Given the description of an element on the screen output the (x, y) to click on. 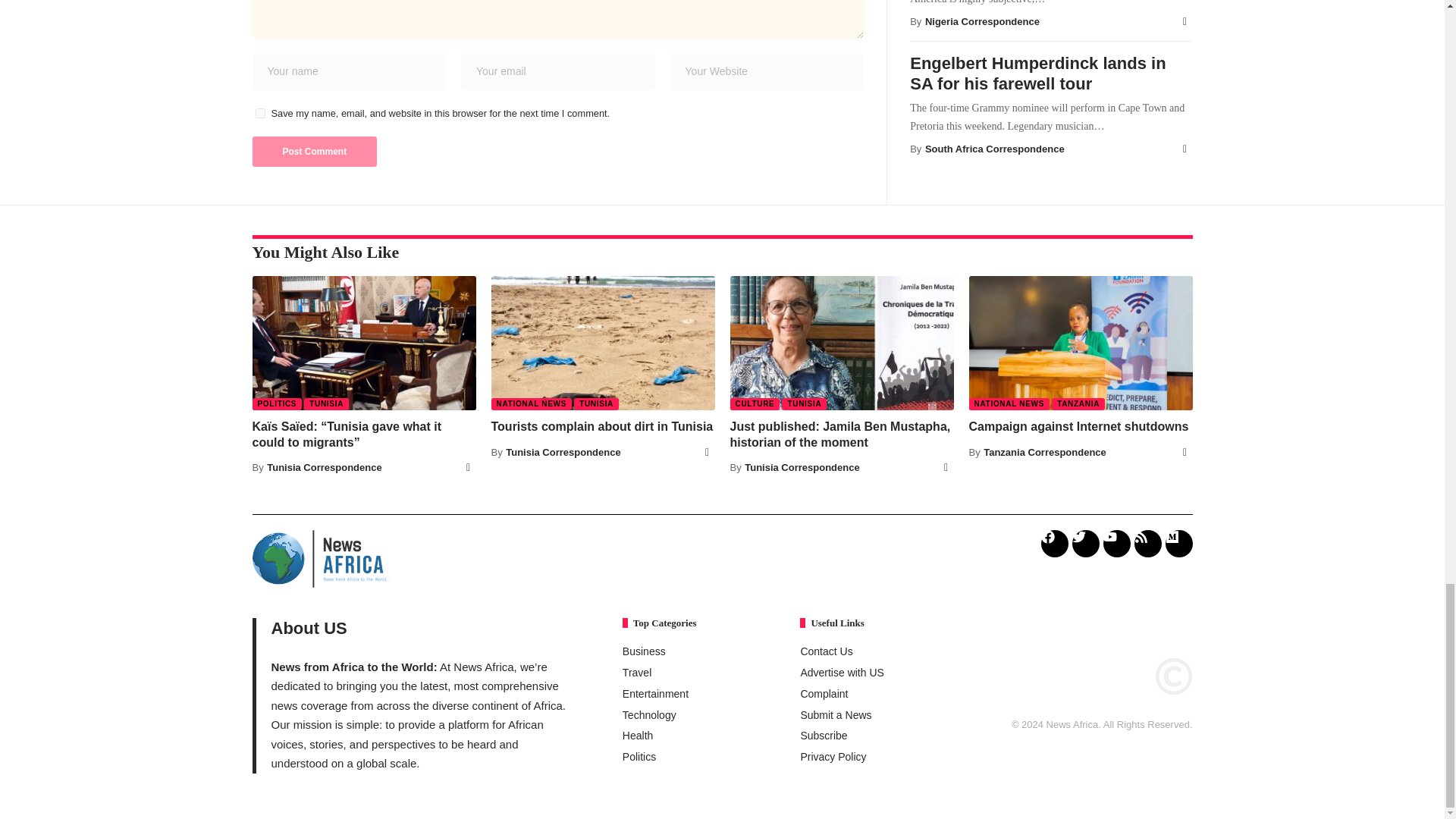
yes (259, 112)
Tourists complain about dirt in Tunisia (603, 343)
Just published: Jamila Ben Mustapha, historian of the moment (841, 343)
Post Comment (314, 151)
Campaign against Internet shutdowns (1080, 343)
